Given the description of an element on the screen output the (x, y) to click on. 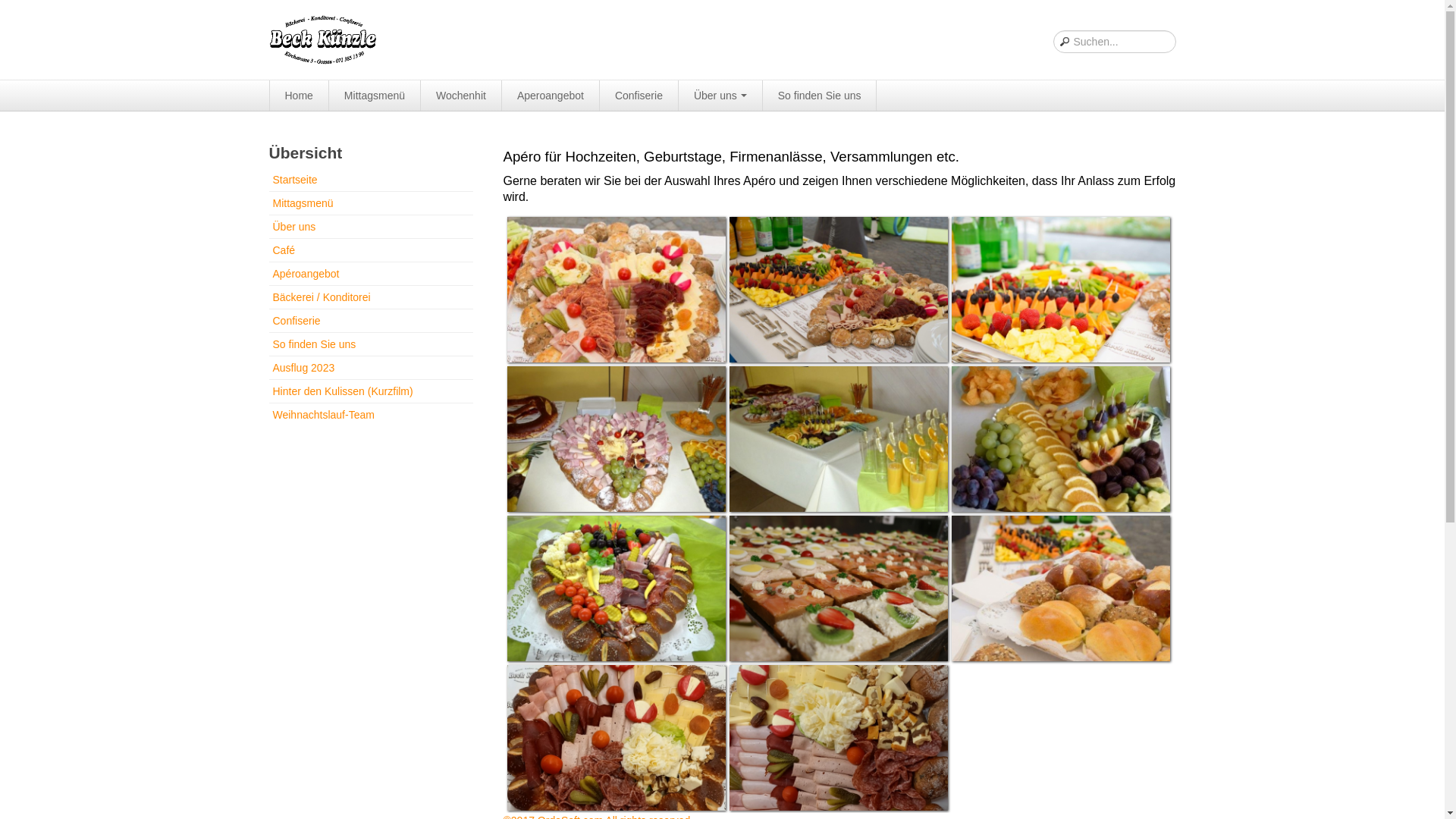
Home Element type: text (299, 95)
Hinter den Kulissen (Kurzfilm) Element type: text (370, 390)
Aperoangebot Element type: text (550, 95)
Confiserie Element type: text (370, 320)
Startseite Element type: text (370, 181)
Weihnachtslauf-Team Element type: text (370, 414)
Confiserie Element type: text (638, 95)
So finden Sie uns Element type: text (370, 343)
So finden Sie uns Element type: text (819, 95)
Ausflug 2023 Element type: text (370, 367)
Wochenhit Element type: text (461, 95)
